Given the description of an element on the screen output the (x, y) to click on. 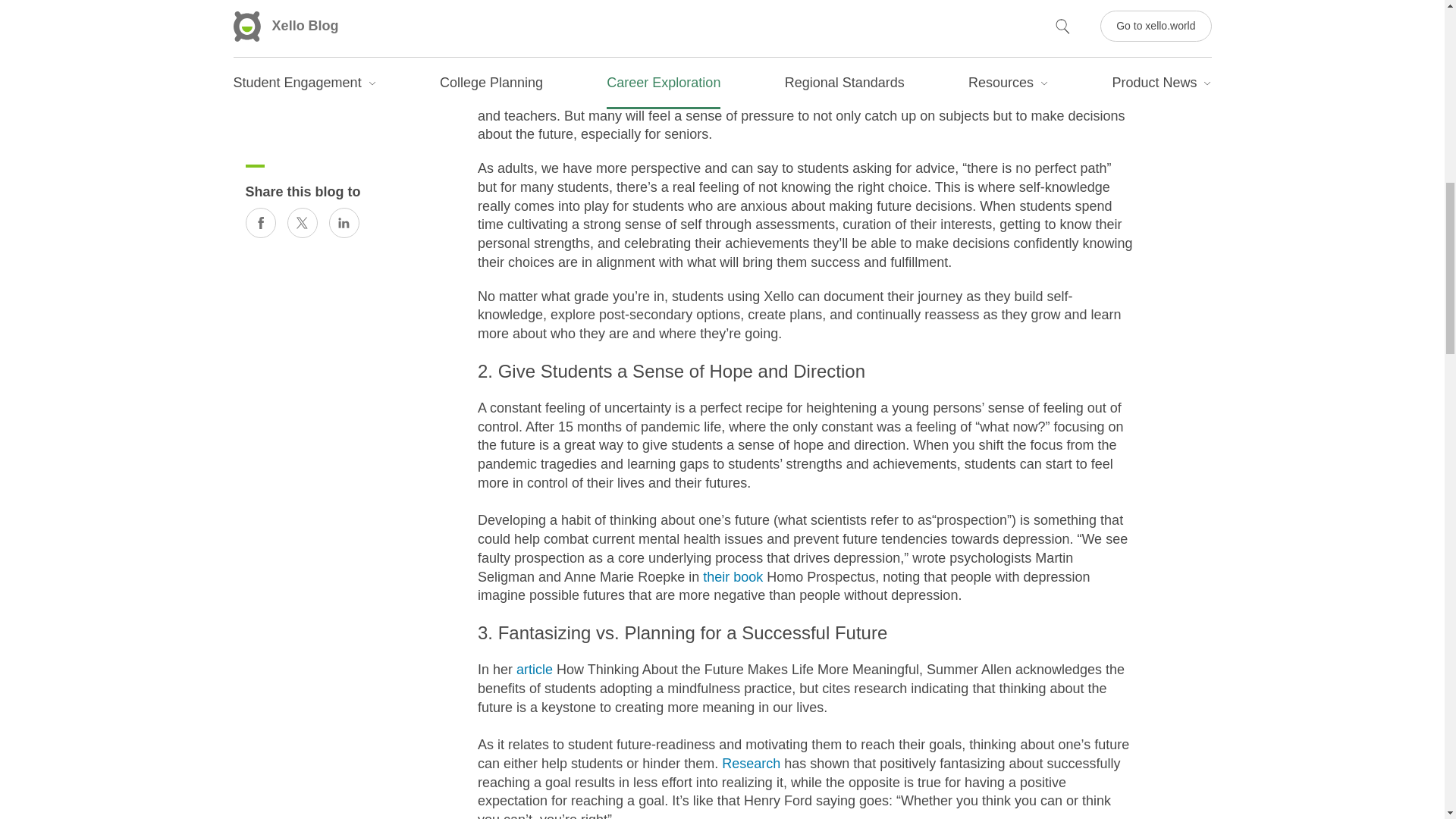
their book (732, 576)
